Given the description of an element on the screen output the (x, y) to click on. 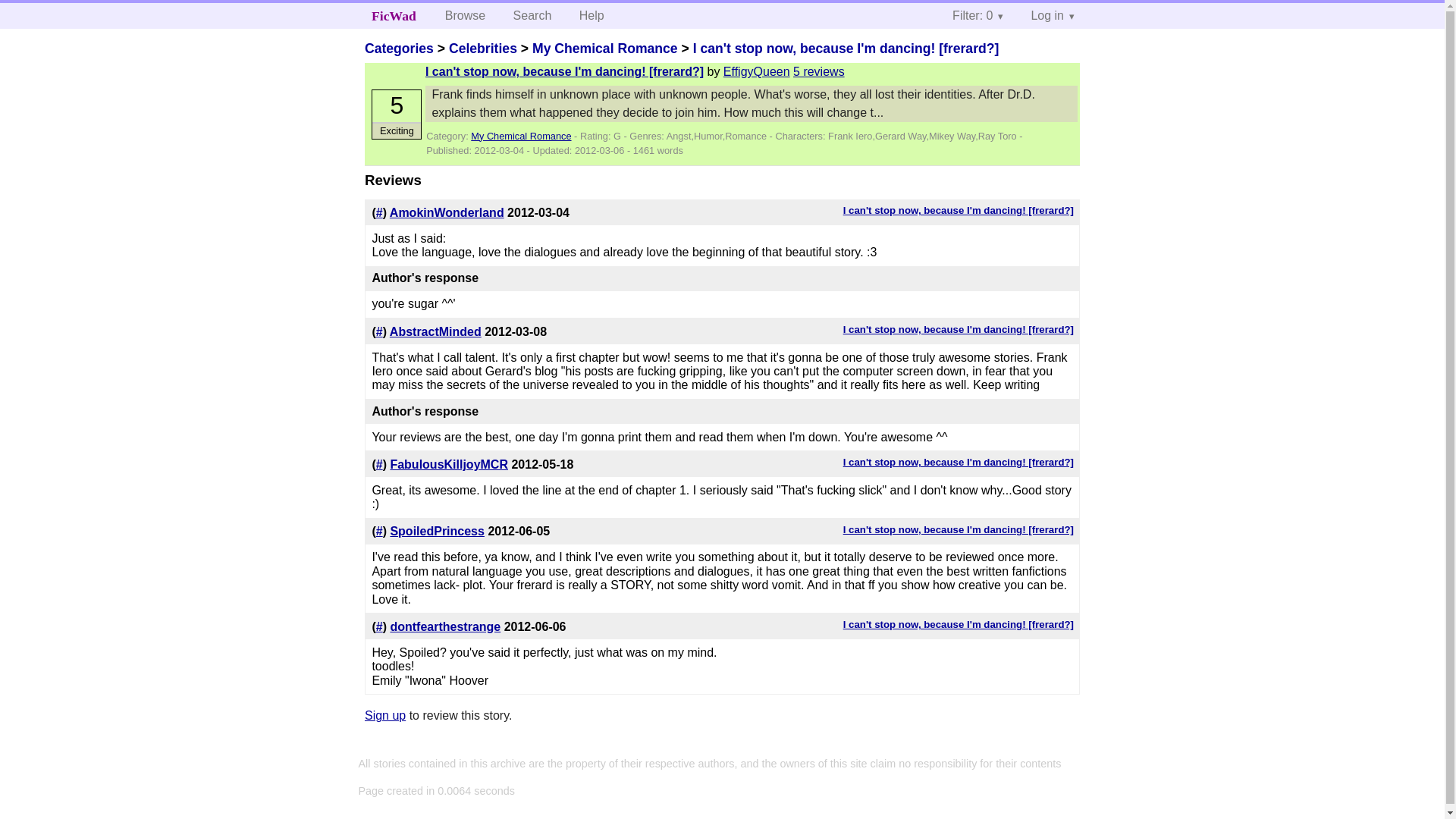
Search (532, 15)
FabulousKilljoyMCR (449, 463)
FicWad (393, 15)
dontfearthestrange (445, 626)
Log in (1051, 15)
EffigyQueen (756, 71)
2012-06-06 02:20:53 (534, 626)
My Chemical Romance (605, 48)
SpoiledPrincess (437, 530)
Browse (464, 15)
2012-05-18 09:56:59 (542, 463)
Celebrities (482, 48)
2012-06-05 14:47:16 (518, 530)
Help (591, 15)
fresh-picked original and fan fiction (393, 15)
